Given the description of an element on the screen output the (x, y) to click on. 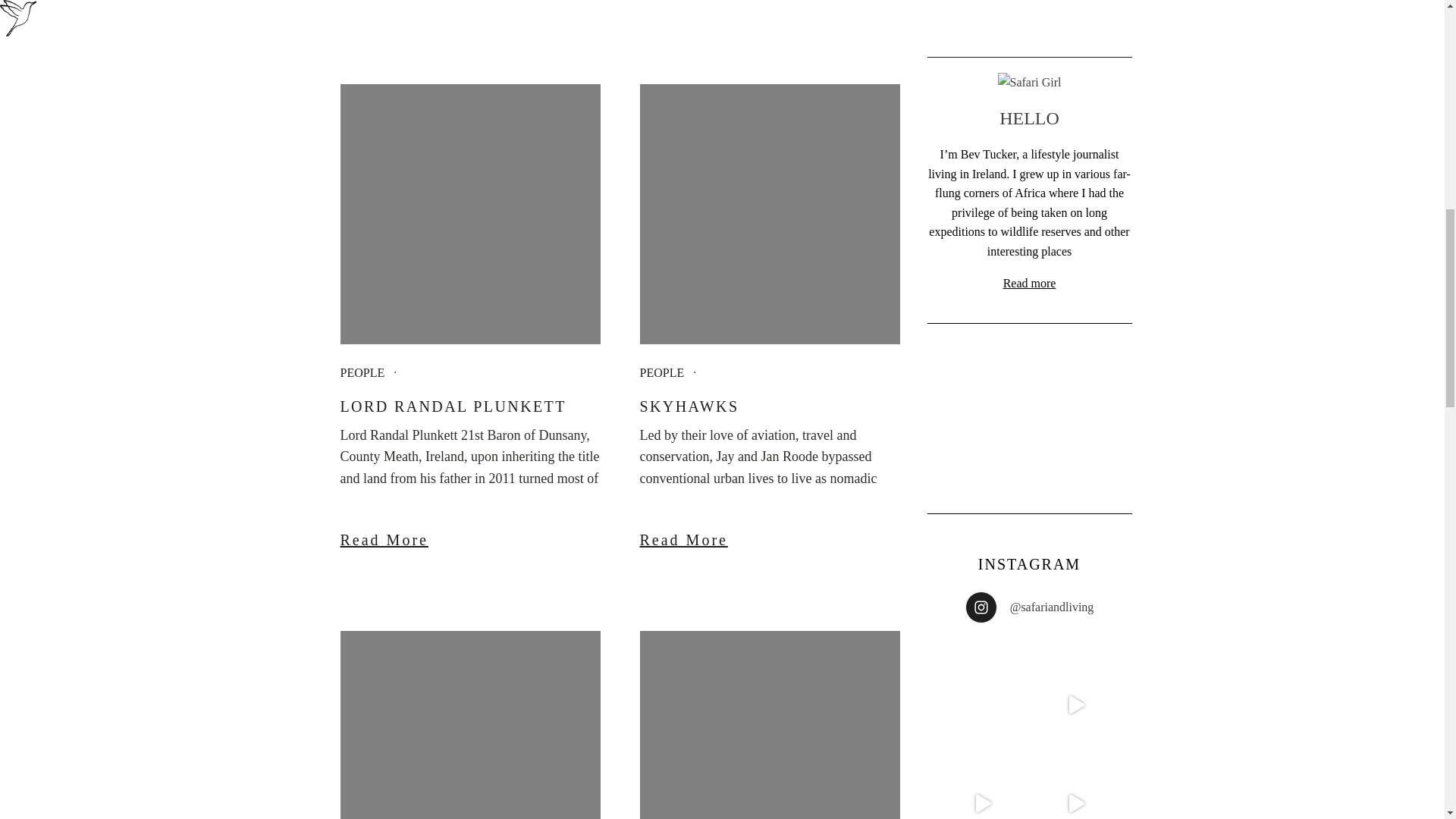
Read More (769, 539)
PEOPLE (662, 372)
SKYHAWKS (769, 406)
PEOPLE (361, 372)
Read More (469, 539)
LORD RANDAL PLUNKETT (469, 406)
